Given the description of an element on the screen output the (x, y) to click on. 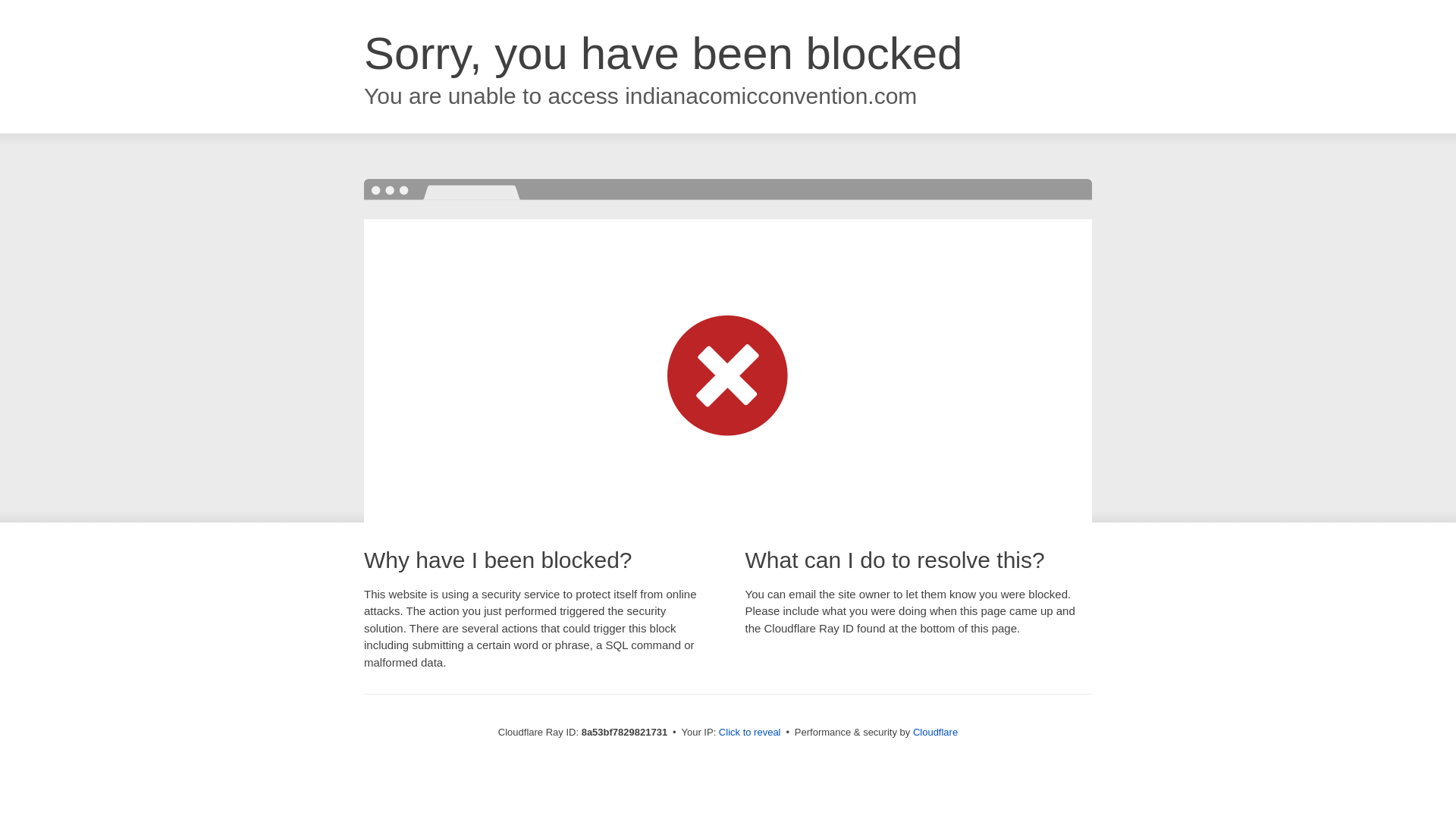
Cloudflare (935, 731)
Click to reveal (749, 732)
